Given the description of an element on the screen output the (x, y) to click on. 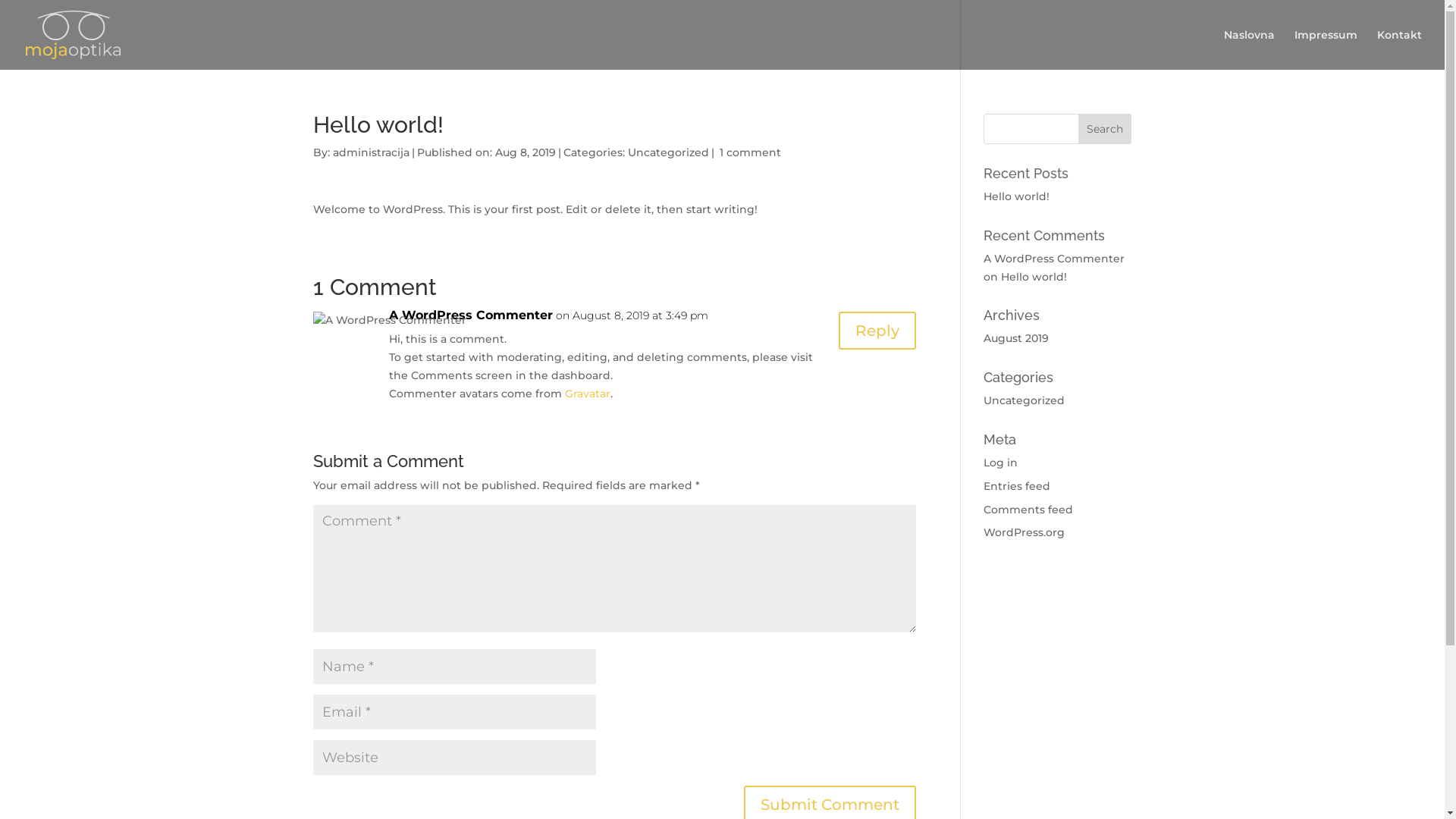
Kontakt Element type: text (1399, 49)
WordPress.org Element type: text (1023, 532)
Hello world! Element type: text (1033, 276)
Log in Element type: text (1000, 462)
Gravatar Element type: text (586, 393)
Naslovna Element type: text (1248, 49)
administracija Element type: text (370, 152)
Uncategorized Element type: text (668, 152)
Comments feed Element type: text (1028, 509)
Search Element type: text (1104, 128)
Uncategorized Element type: text (1023, 400)
A WordPress Commenter Element type: text (470, 315)
1 comment Element type: text (749, 152)
Impressum Element type: text (1325, 49)
Entries feed Element type: text (1016, 485)
Hello world! Element type: text (1016, 196)
A WordPress Commenter Element type: text (1053, 258)
August 2019 Element type: text (1015, 338)
Reply Element type: text (877, 330)
